Given the description of an element on the screen output the (x, y) to click on. 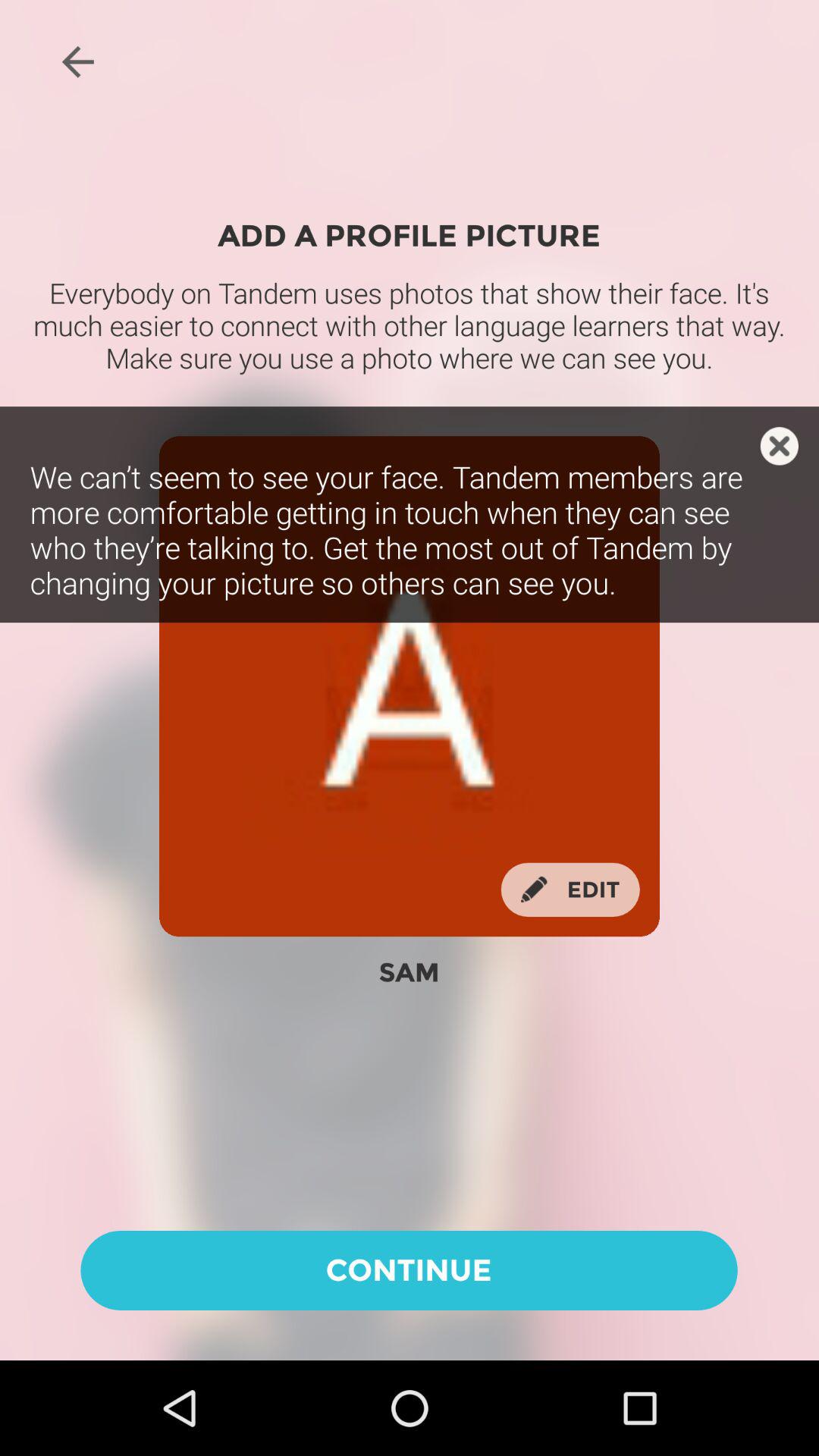
tap item at the top right corner (779, 445)
